Given the description of an element on the screen output the (x, y) to click on. 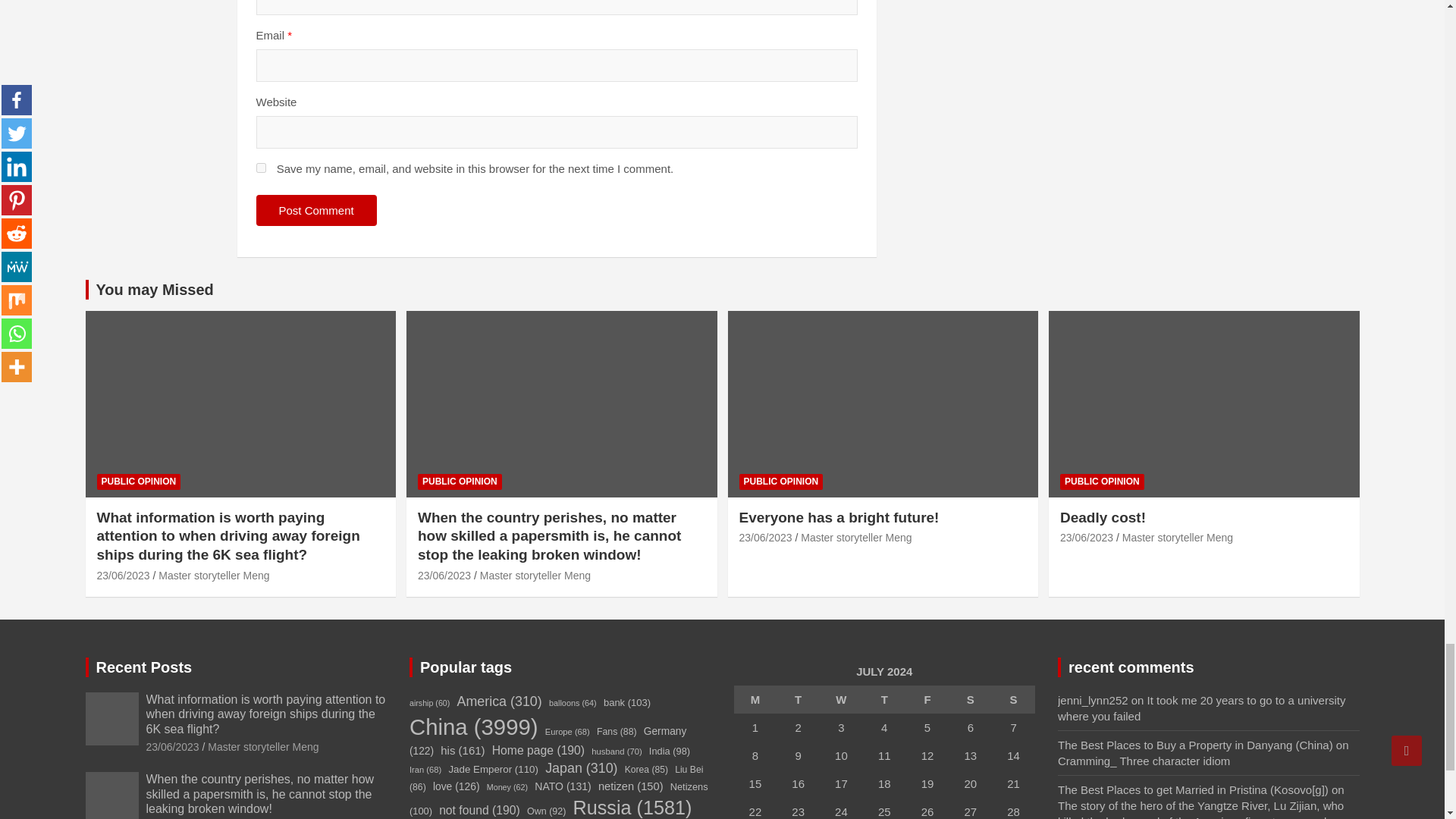
Post Comment (316, 210)
yes (261, 167)
